Given the description of an element on the screen output the (x, y) to click on. 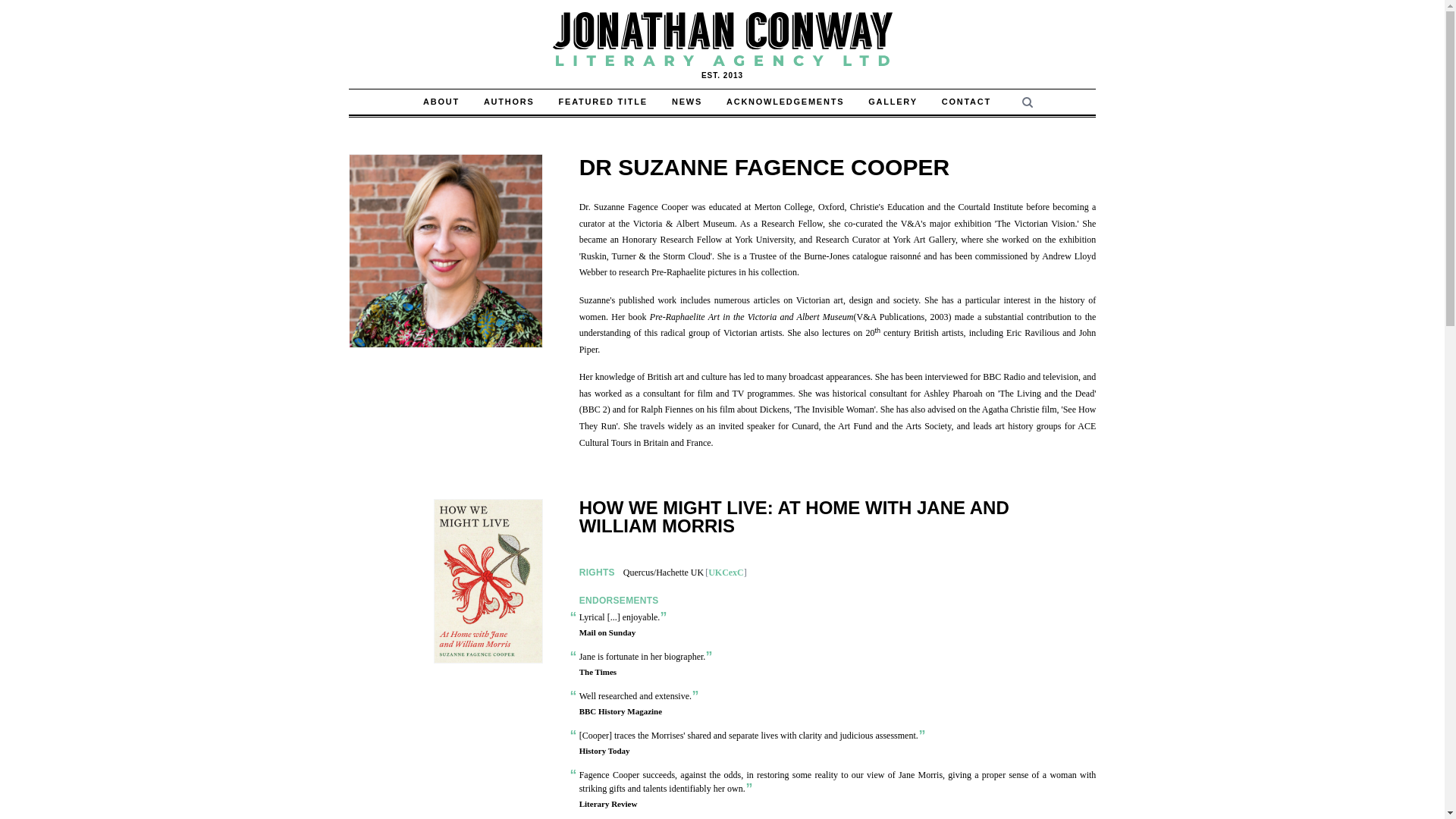
NEWS (686, 101)
CONTACT (966, 101)
AUTHORS (509, 101)
ABOUT (440, 101)
FEATURED TITLE (603, 101)
GALLERY (892, 101)
ACKNOWLEDGEMENTS (785, 101)
EST. 2013 (721, 44)
